Given the description of an element on the screen output the (x, y) to click on. 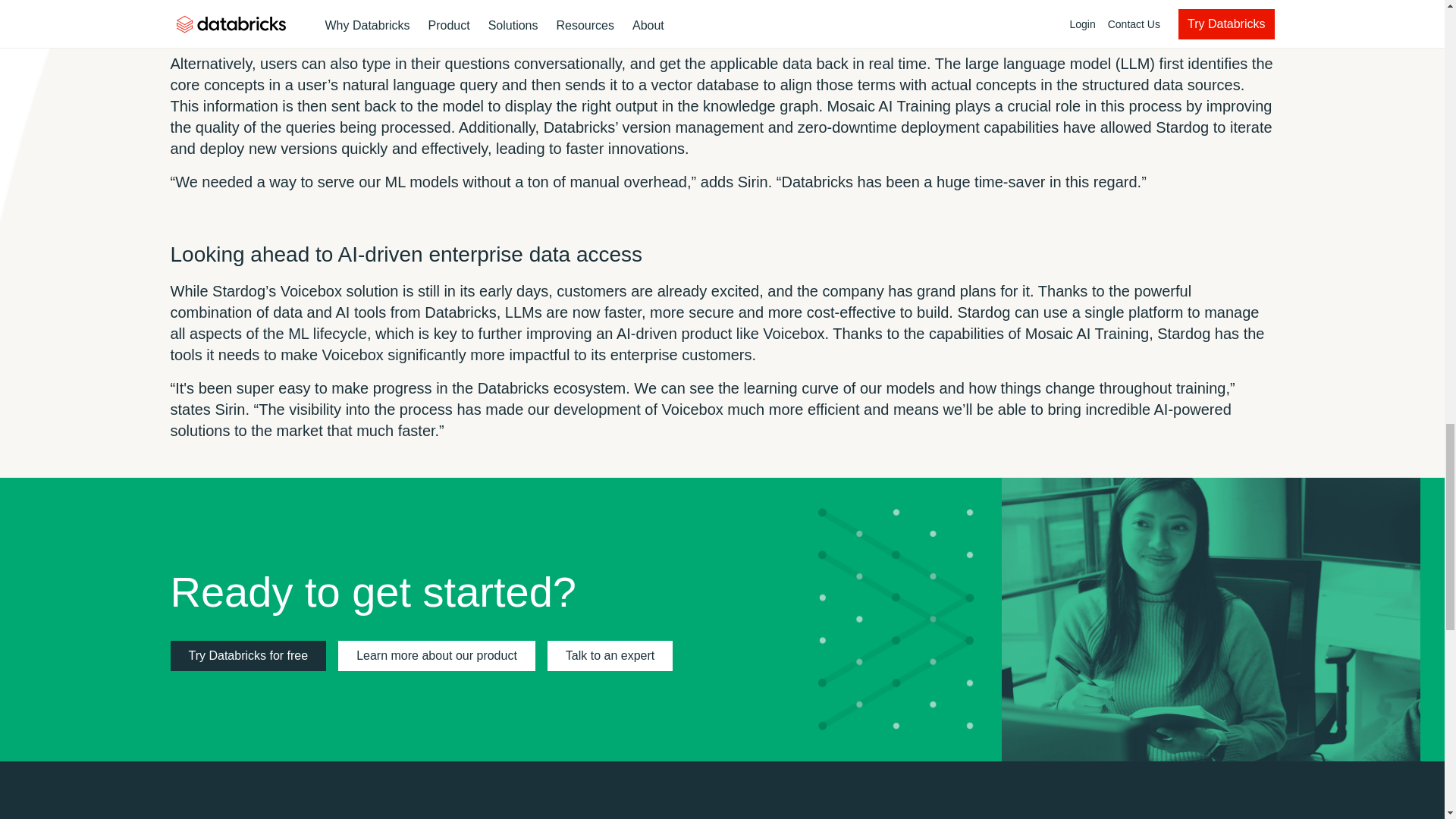
Try Databricks for free (248, 655)
Talk to an expert (609, 655)
Learn more about our product (436, 655)
